Given the description of an element on the screen output the (x, y) to click on. 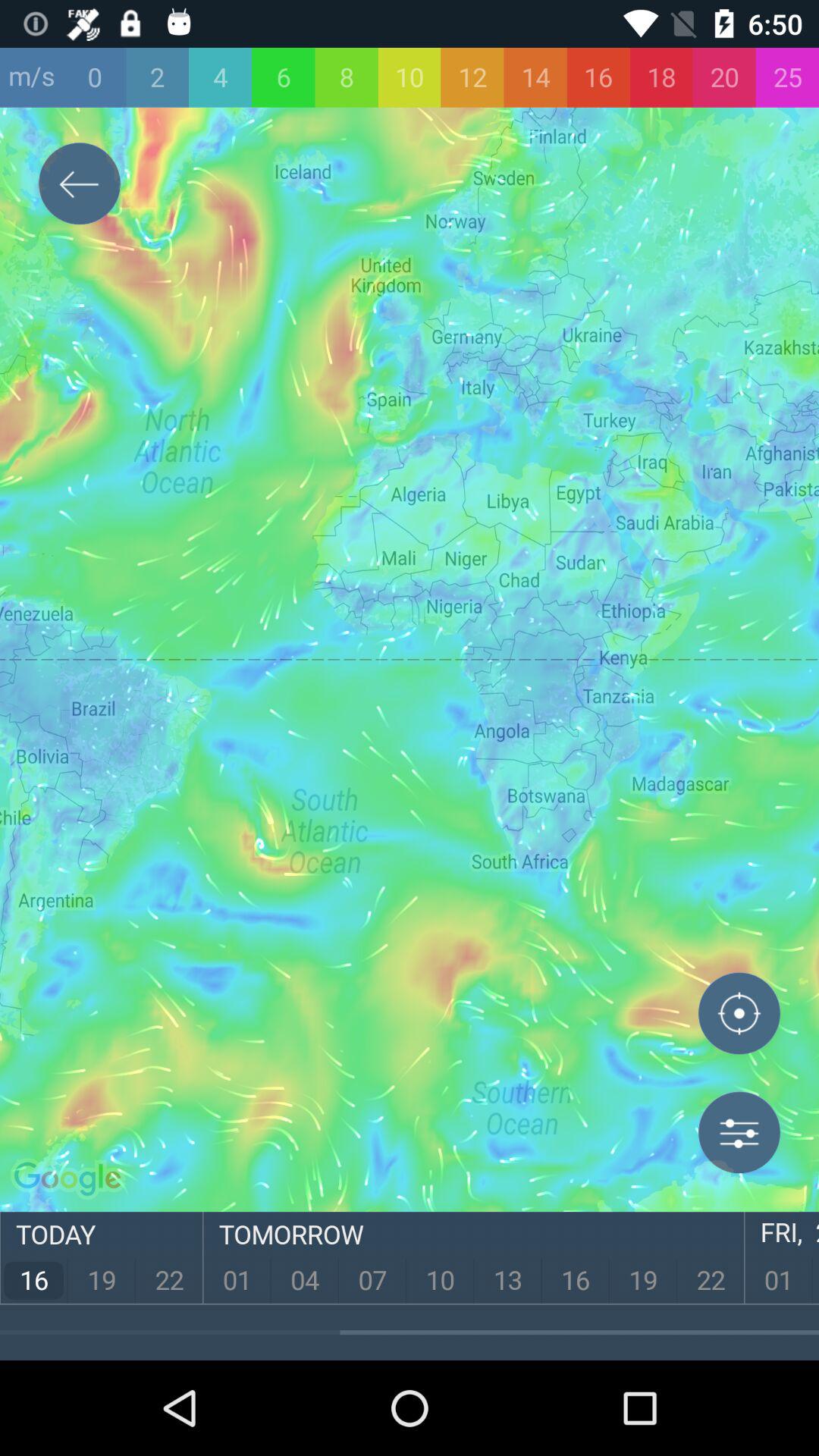
mabe bage (739, 1016)
